Given the description of an element on the screen output the (x, y) to click on. 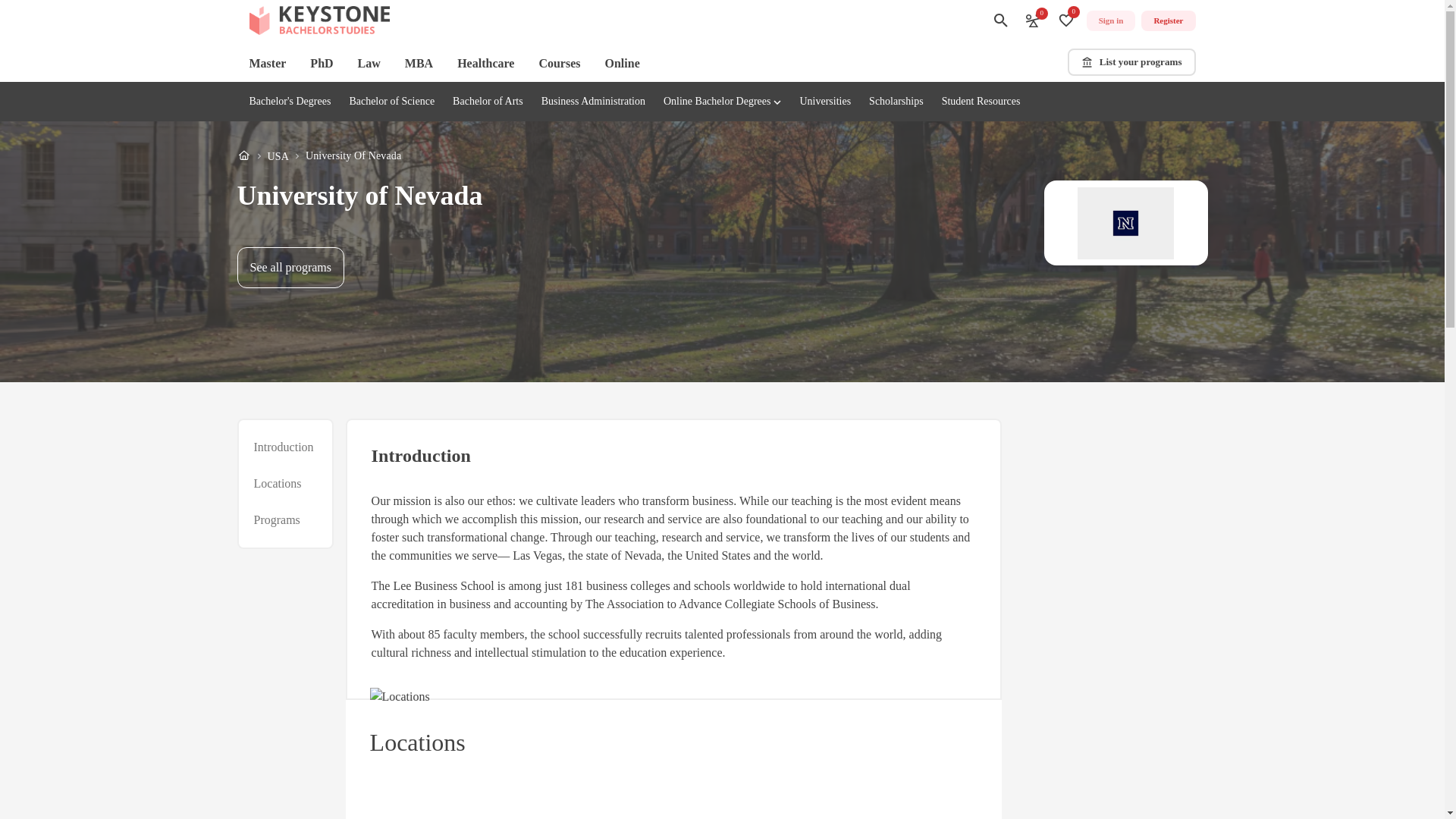
Universities (824, 101)
0 (1032, 20)
Business Administration (593, 101)
Bachelor of Science (391, 101)
Bachelor of Arts (487, 101)
See all programs (289, 267)
Bachelor's Degrees (318, 156)
Courses (289, 101)
List your programs (558, 63)
USA (1131, 62)
Online (277, 156)
Student Resources (622, 63)
Introduction (981, 101)
Healthcare (283, 447)
